Given the description of an element on the screen output the (x, y) to click on. 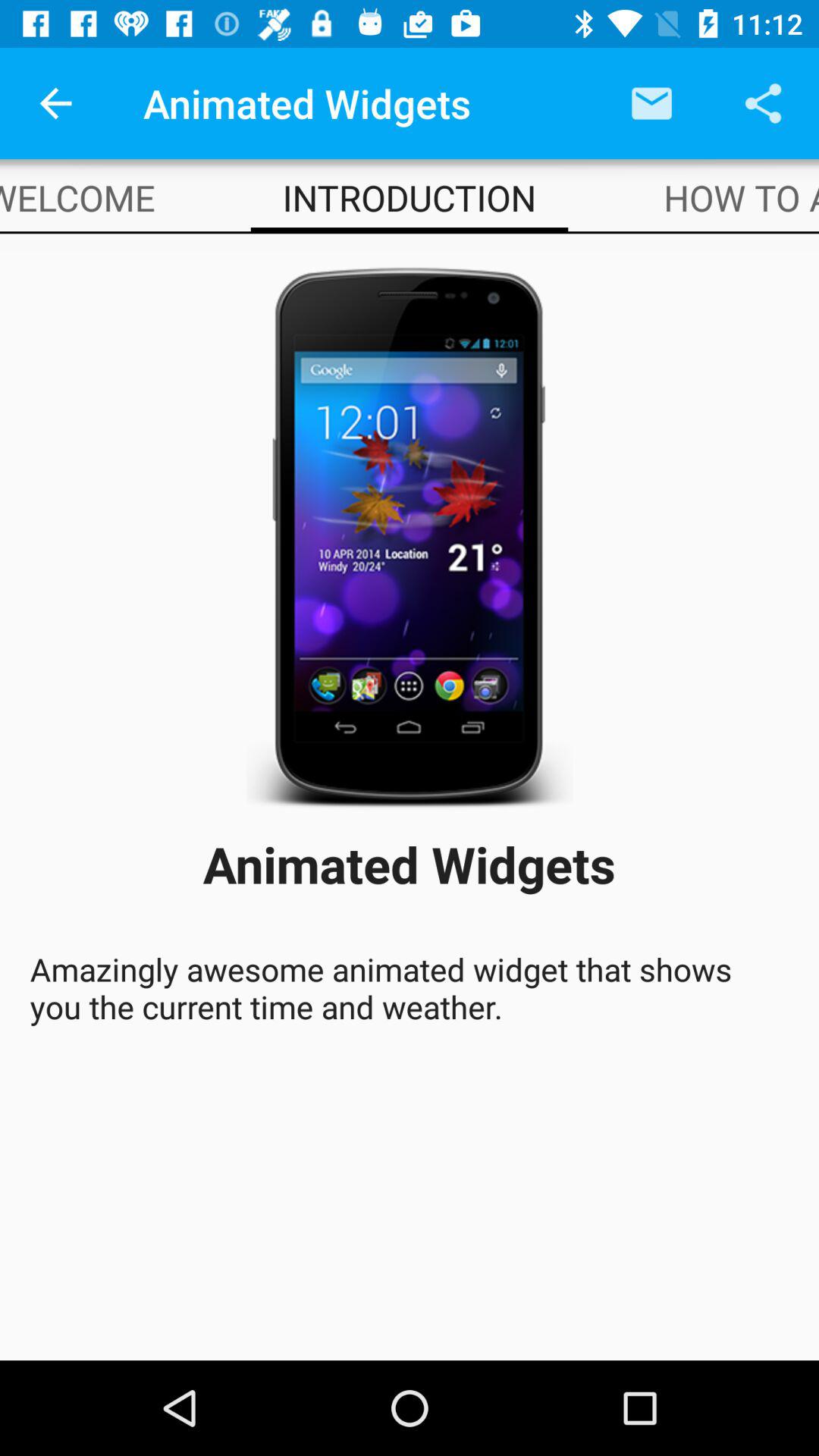
scroll until how to add icon (741, 197)
